Given the description of an element on the screen output the (x, y) to click on. 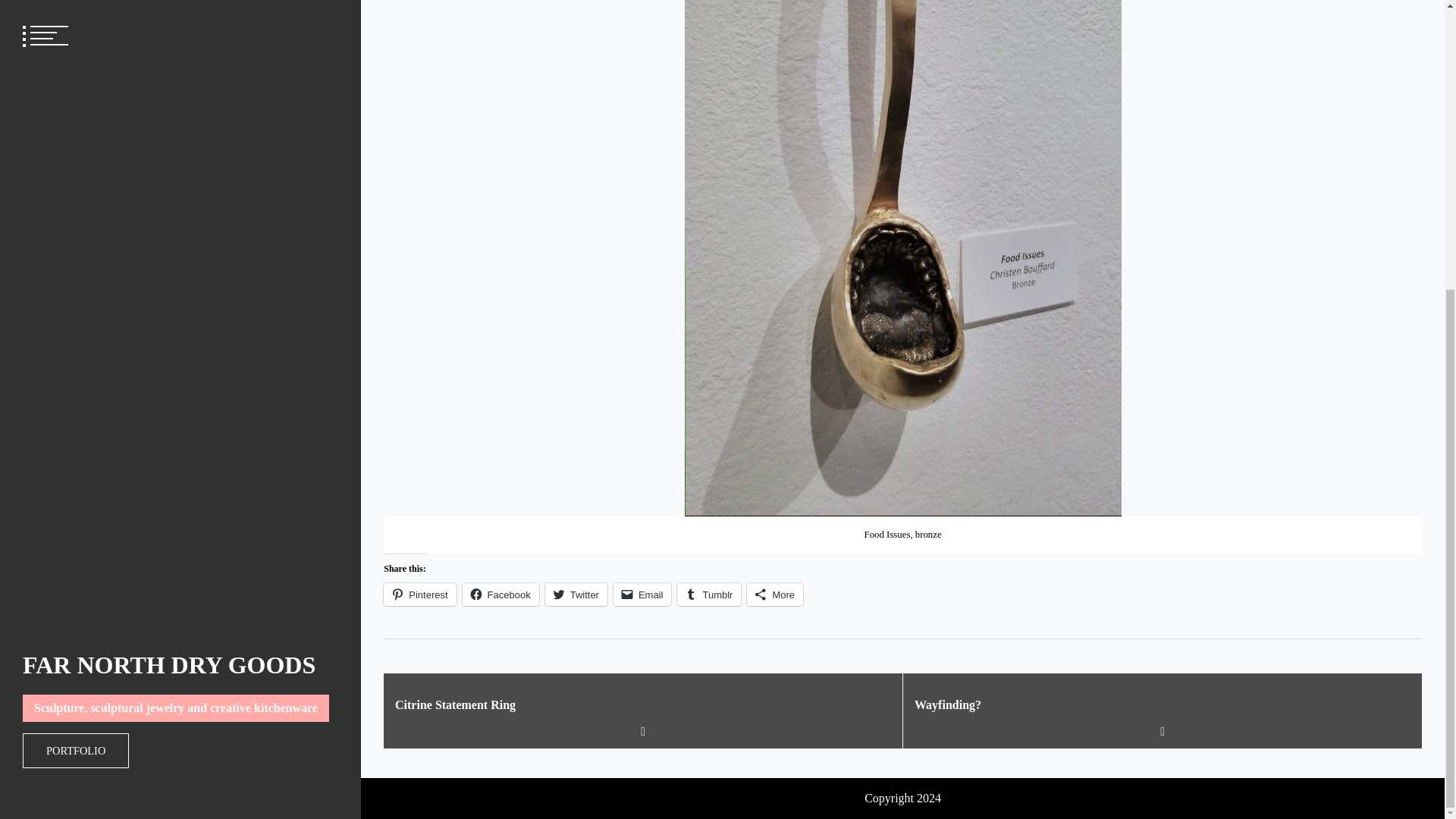
Click to share on Pinterest (419, 594)
PORTFOLIO (76, 309)
Click to share on Twitter (575, 594)
Pinterest (419, 594)
Click to share on Facebook (500, 594)
Citrine Statement Ring (642, 705)
Wayfinding? (1162, 705)
Facebook (500, 594)
Email (641, 594)
Tumblr (709, 594)
